Given the description of an element on the screen output the (x, y) to click on. 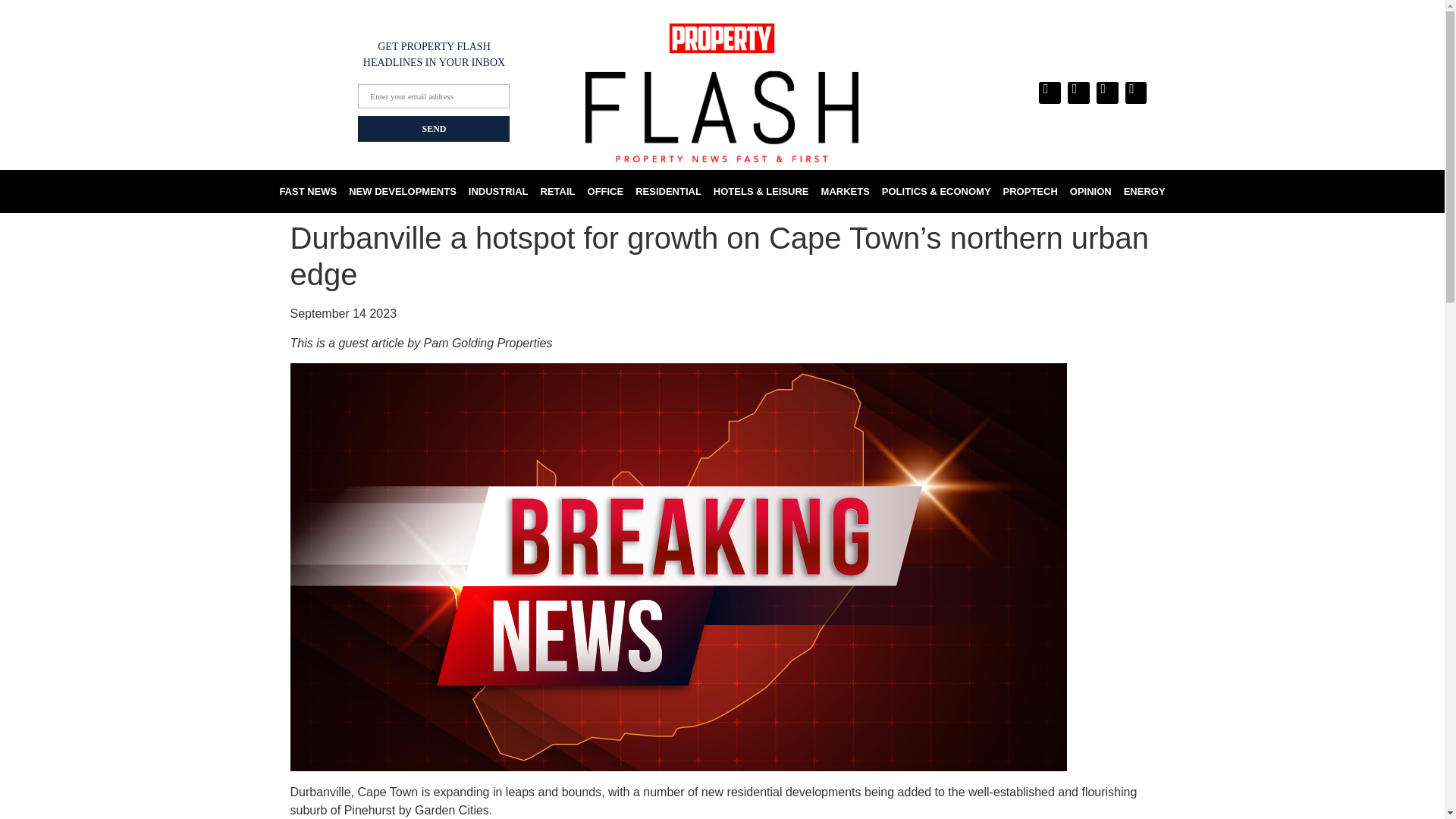
OPINION (1091, 191)
OFFICE (605, 191)
INDUSTRIAL (498, 191)
SEND (433, 128)
PROPTECH (1030, 191)
RETAIL (557, 191)
RESIDENTIAL (667, 191)
MARKETS (845, 191)
NEW DEVELOPMENTS (402, 191)
FAST NEWS (307, 191)
SEND (433, 128)
ENERGY (1145, 191)
